Given the description of an element on the screen output the (x, y) to click on. 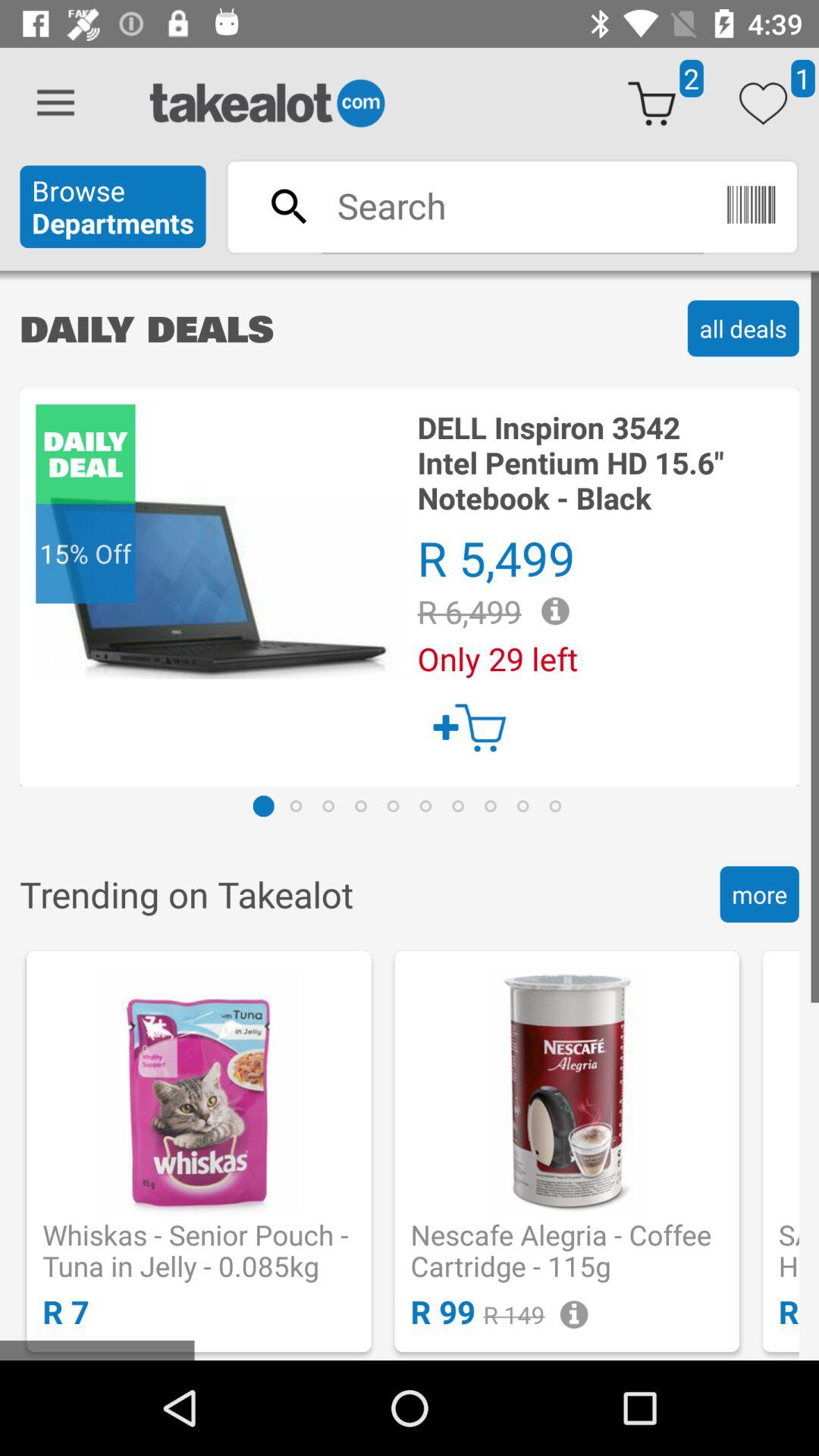
search (512, 205)
